Given the description of an element on the screen output the (x, y) to click on. 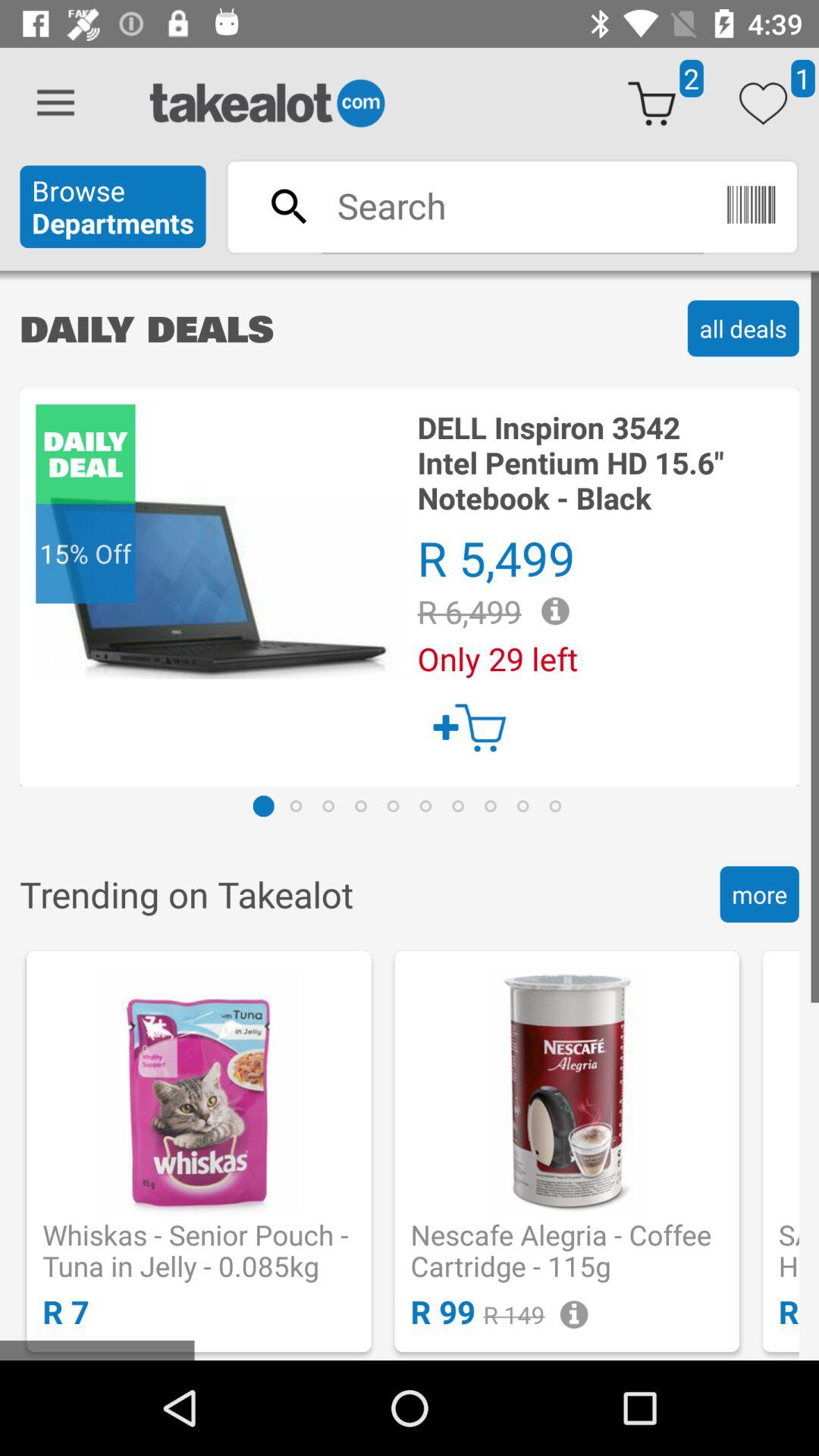
search (512, 205)
